Given the description of an element on the screen output the (x, y) to click on. 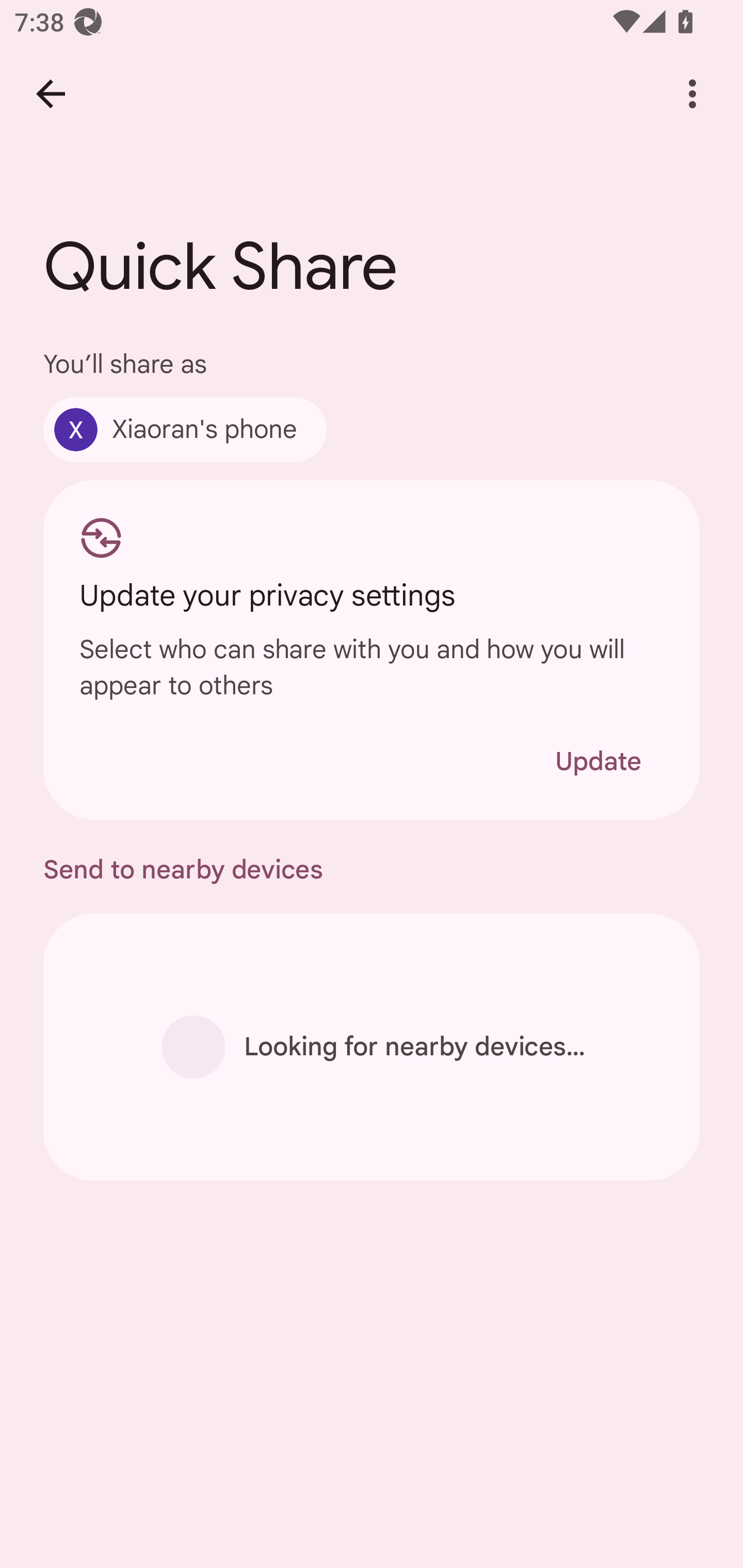
Back (50, 93)
More (692, 93)
Xiaoran's phone (184, 429)
Update (598, 761)
